Given the description of an element on the screen output the (x, y) to click on. 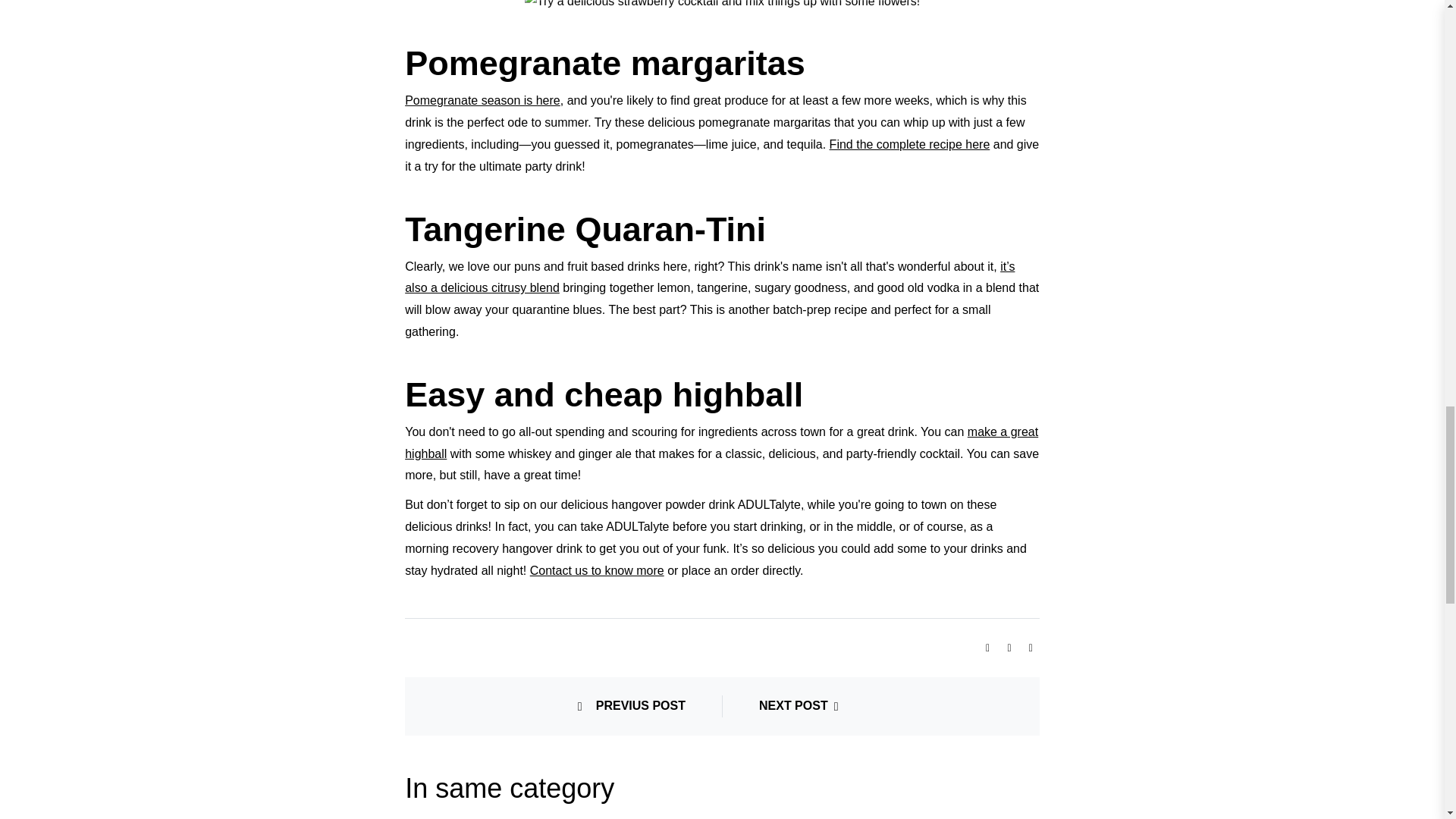
Share on Facebook (991, 646)
Find the complete recipe here (909, 144)
make a great highball (721, 442)
Contact ADULTalyte (596, 570)
Contact us to know more (596, 570)
drinks and stay hydrated all night (715, 559)
hangover powder drink (673, 504)
ADULTalyte (673, 504)
PREVIUS POST (631, 706)
Tweet on Twitter (1013, 646)
Tweet on Twitter (1013, 646)
Hangover drink ADULTalyte (493, 548)
Pomegranate season is here (482, 100)
NEXT POST (801, 706)
morning recovery hangover drink (493, 548)
